Given the description of an element on the screen output the (x, y) to click on. 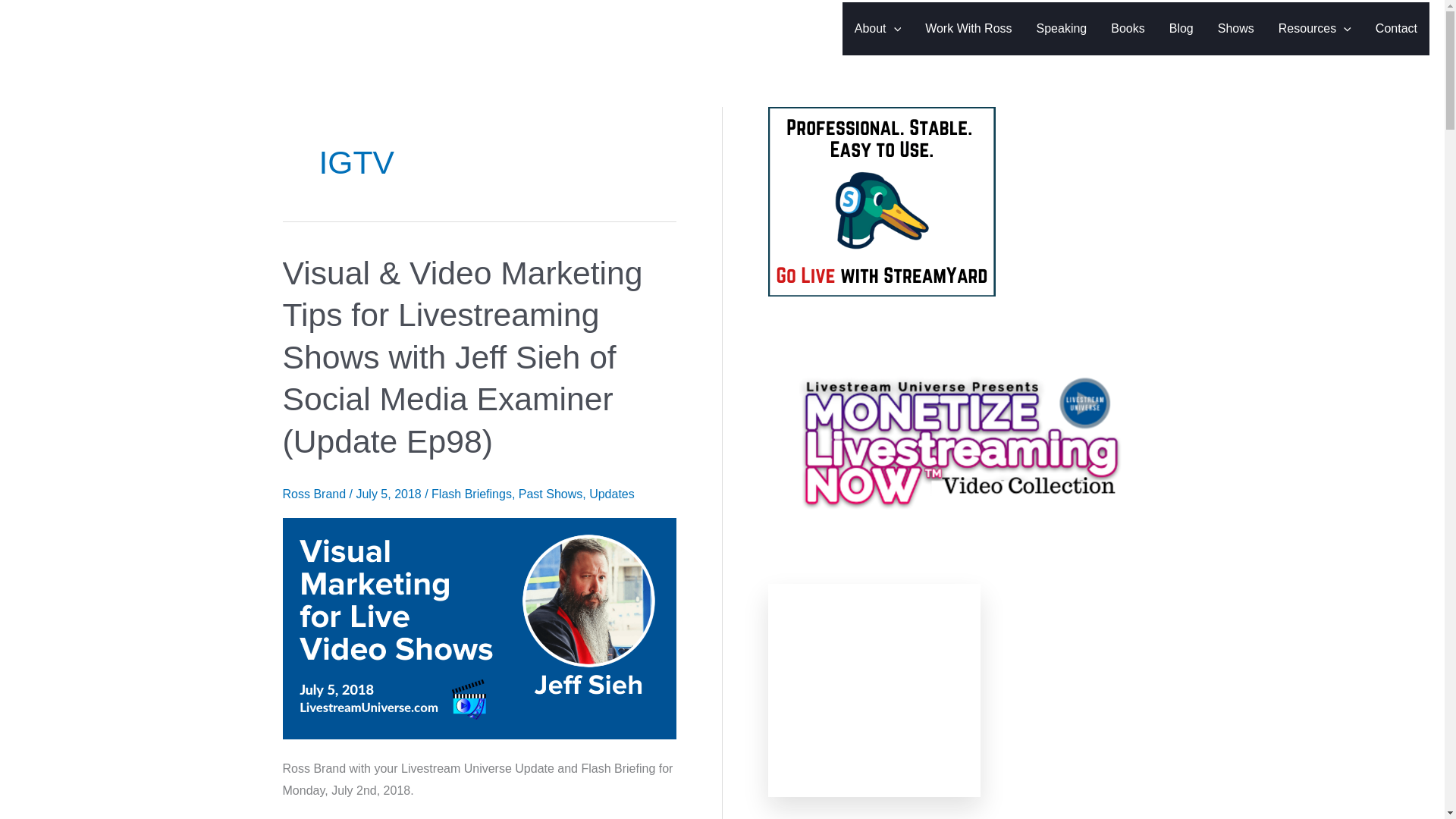
Books (1127, 28)
View all posts by Ross Brand (315, 493)
Blog (1181, 28)
Speaking (1062, 28)
Contact (1395, 28)
Work With Ross (967, 28)
Resources (1314, 28)
Shows (1235, 28)
Livestream Universe (143, 29)
About (877, 28)
